Given the description of an element on the screen output the (x, y) to click on. 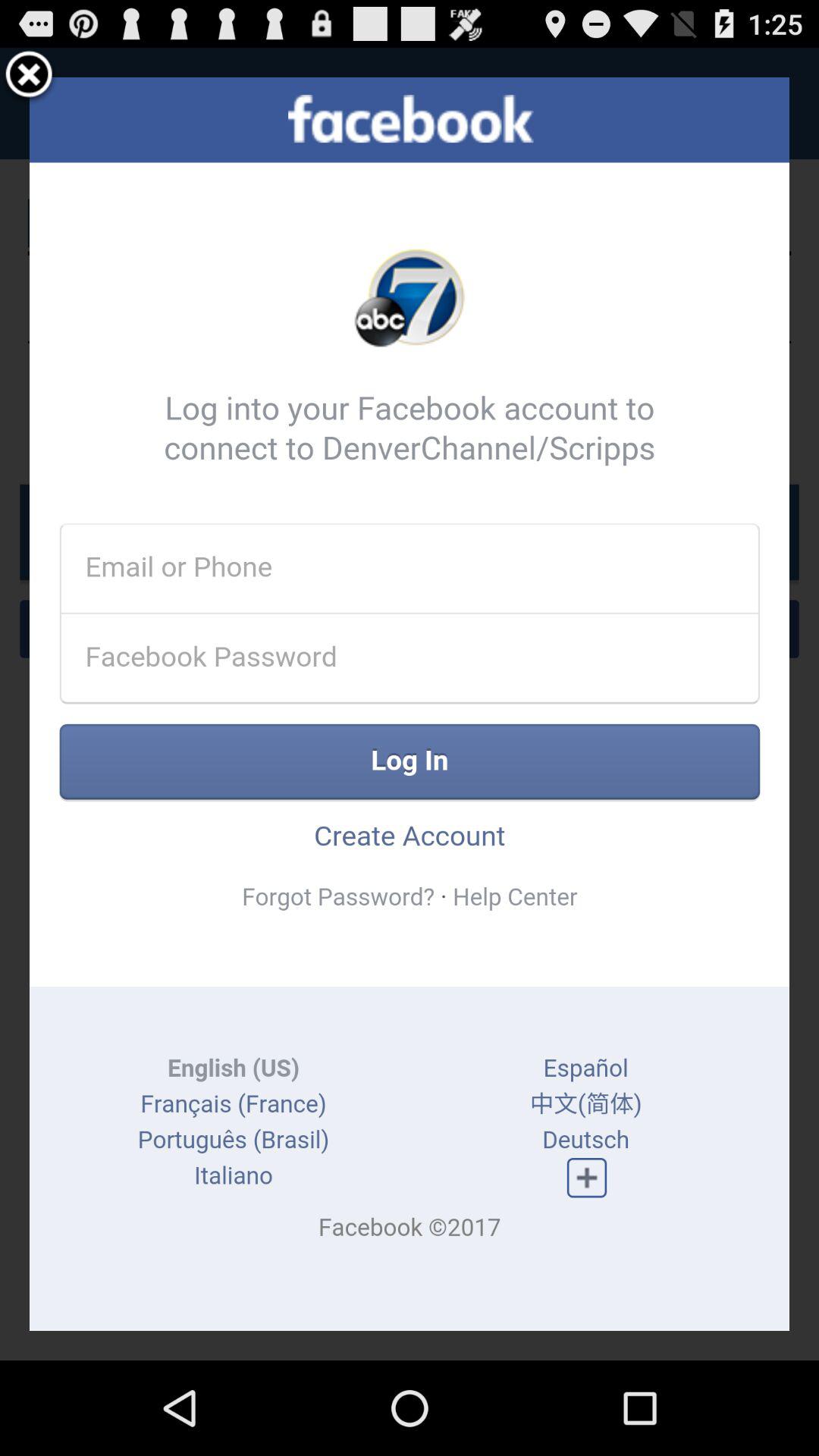
close login (29, 76)
